Given the description of an element on the screen output the (x, y) to click on. 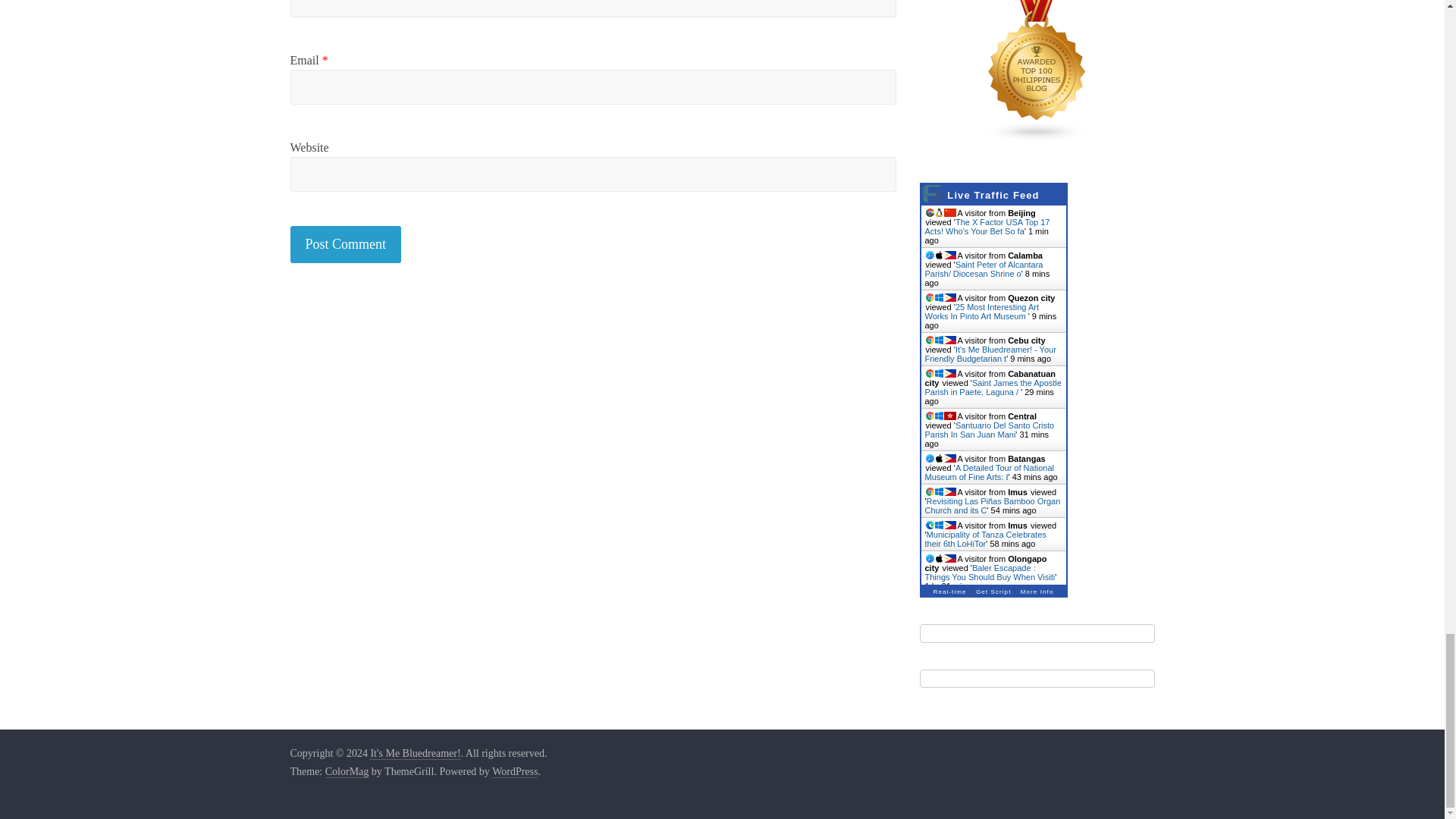
Post Comment (345, 244)
